Given the description of an element on the screen output the (x, y) to click on. 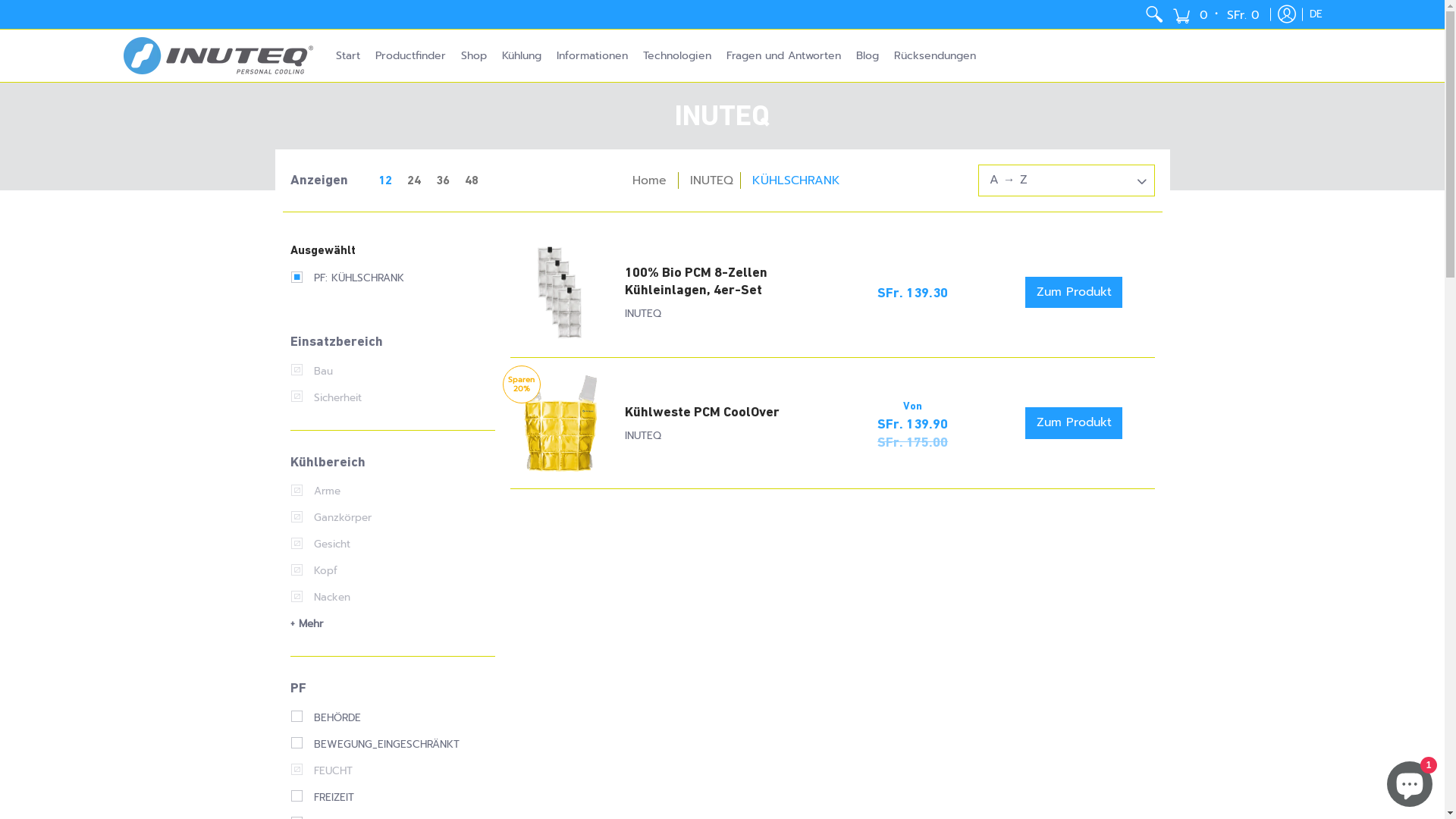
+ Mehr Element type: text (305, 623)
INUTEQ Element type: text (642, 435)
Zum Produkt Element type: text (1073, 423)
DE Element type: text (1315, 14)
48 Element type: text (470, 179)
FREIZEIT Element type: text (321, 797)
Productfinder Element type: text (409, 55)
Shop Element type: text (473, 55)
36 Element type: text (441, 179)
12 Element type: text (372, 179)
Home Element type: text (649, 180)
Suchen Element type: hover (1153, 14)
Zum Produkt Element type: text (1073, 292)
INUTEQ Element type: text (711, 180)
Technologien Element type: text (676, 55)
Fragen und Antworten Element type: text (783, 55)
Start Element type: text (347, 55)
Blog Element type: text (866, 55)
Informationen Element type: text (592, 55)
24 Element type: text (412, 179)
Onlineshop-Chat von Shopify Element type: hover (1409, 780)
INUTEQ Element type: text (642, 313)
BODYCOOLING by INUTEQ SCHWEIZ GmbH Element type: hover (217, 55)
Login Element type: hover (1286, 14)
